Given the description of an element on the screen output the (x, y) to click on. 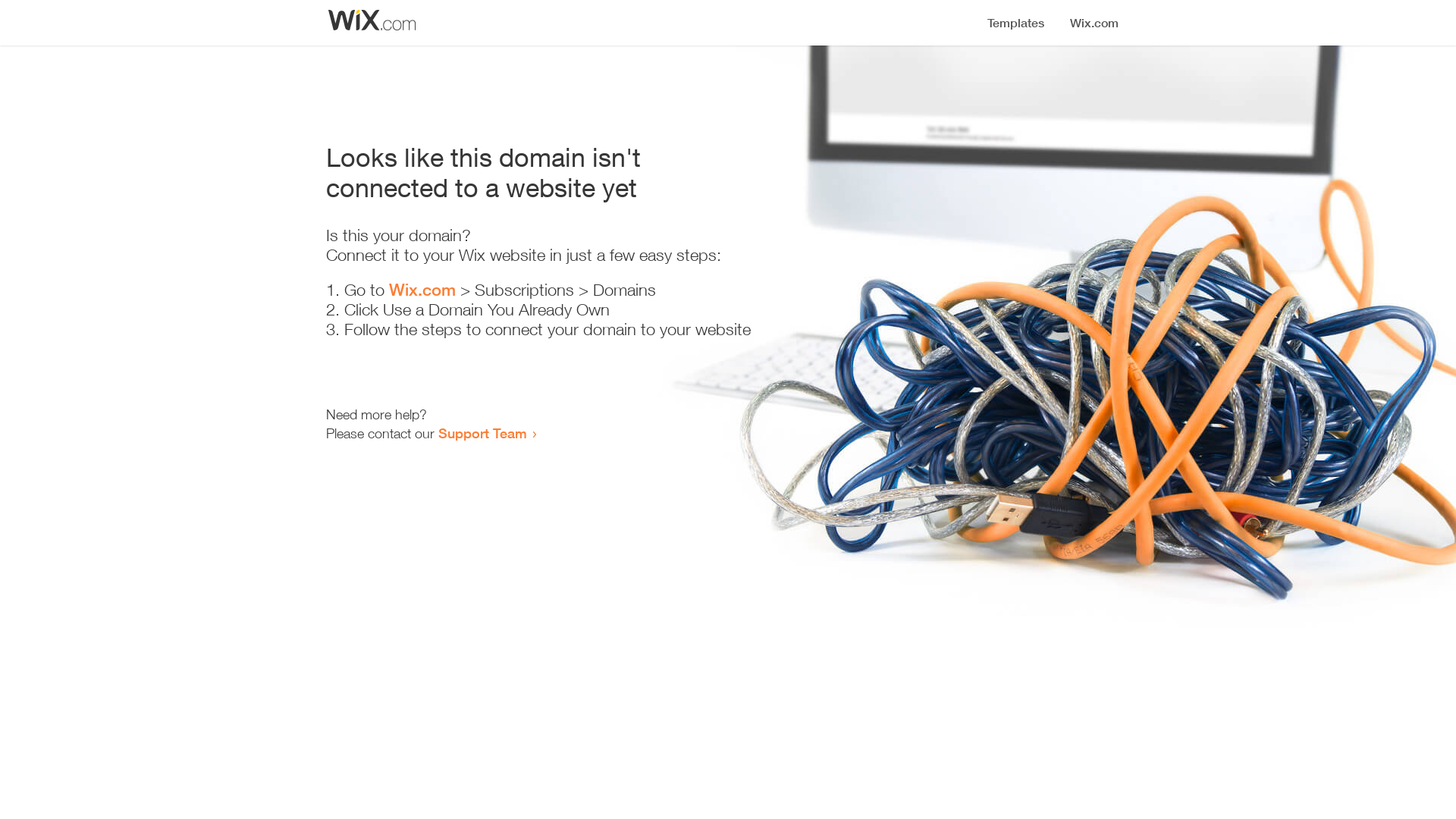
Wix.com Element type: text (422, 289)
Support Team Element type: text (482, 432)
